Given the description of an element on the screen output the (x, y) to click on. 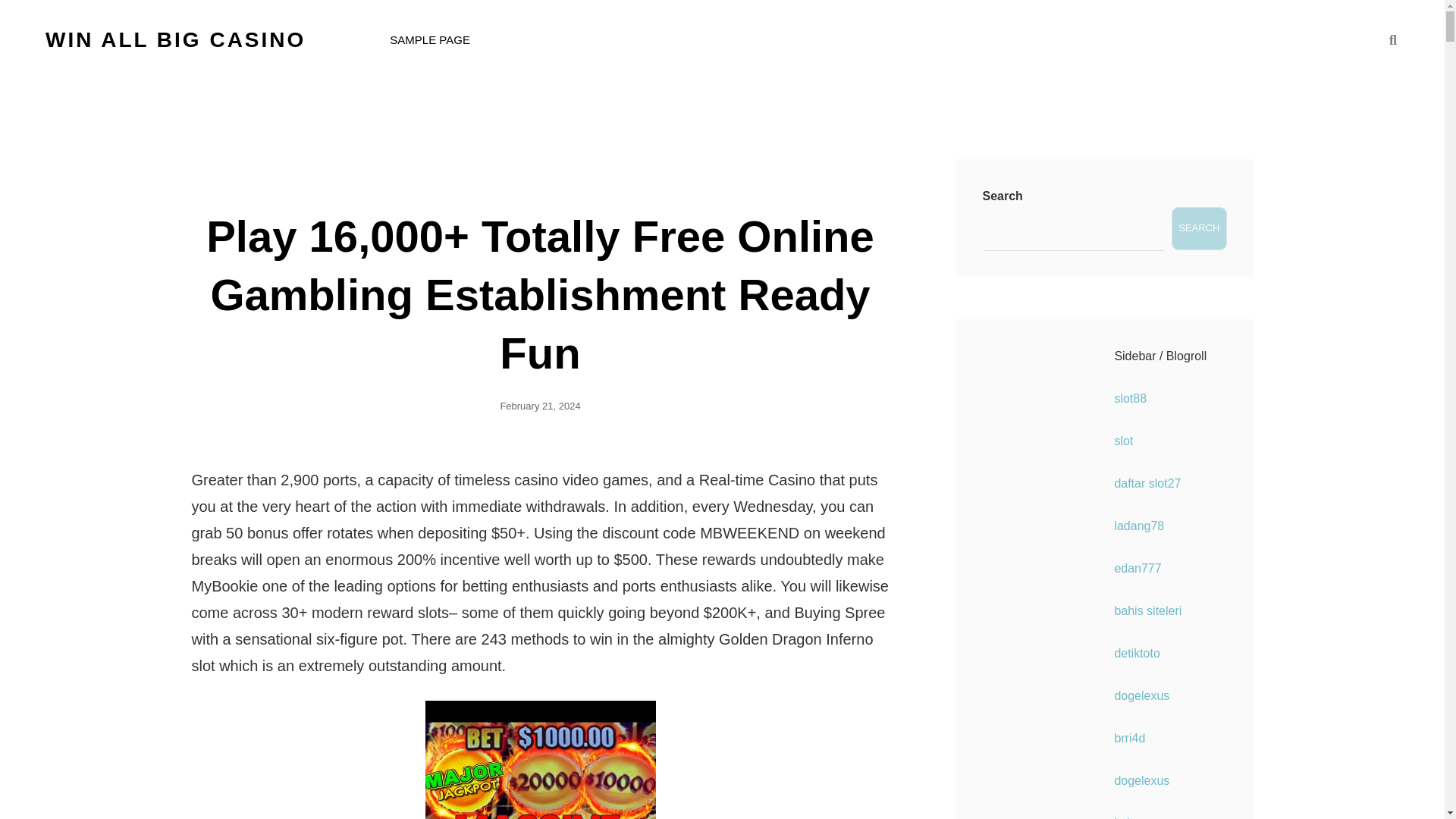
dogelexus (1141, 695)
February 21, 2024 (539, 405)
edan777 (1136, 567)
SEARCH (1392, 39)
WIN ALL BIG CASINO (175, 39)
bahis siteleri (1146, 610)
brri4d (1128, 738)
SEARCH (1198, 228)
keluaran macau (1156, 817)
SAMPLE PAGE (429, 40)
slot (1122, 440)
ladang78 (1138, 525)
dogelexus (1141, 780)
slot88 (1130, 398)
daftar slot27 (1146, 482)
